Given the description of an element on the screen output the (x, y) to click on. 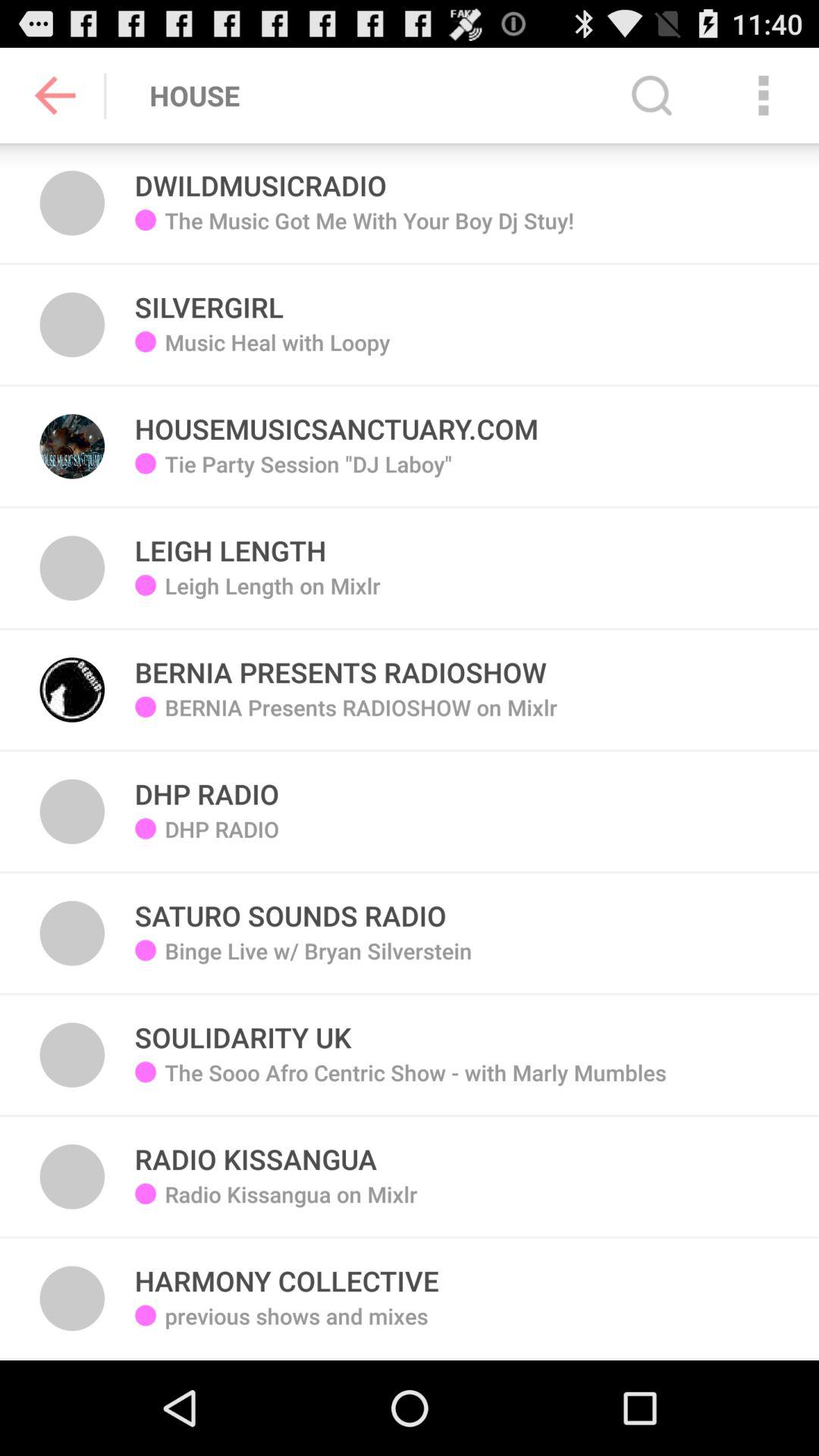
turn off icon above the soulidarity uk (318, 962)
